Given the description of an element on the screen output the (x, y) to click on. 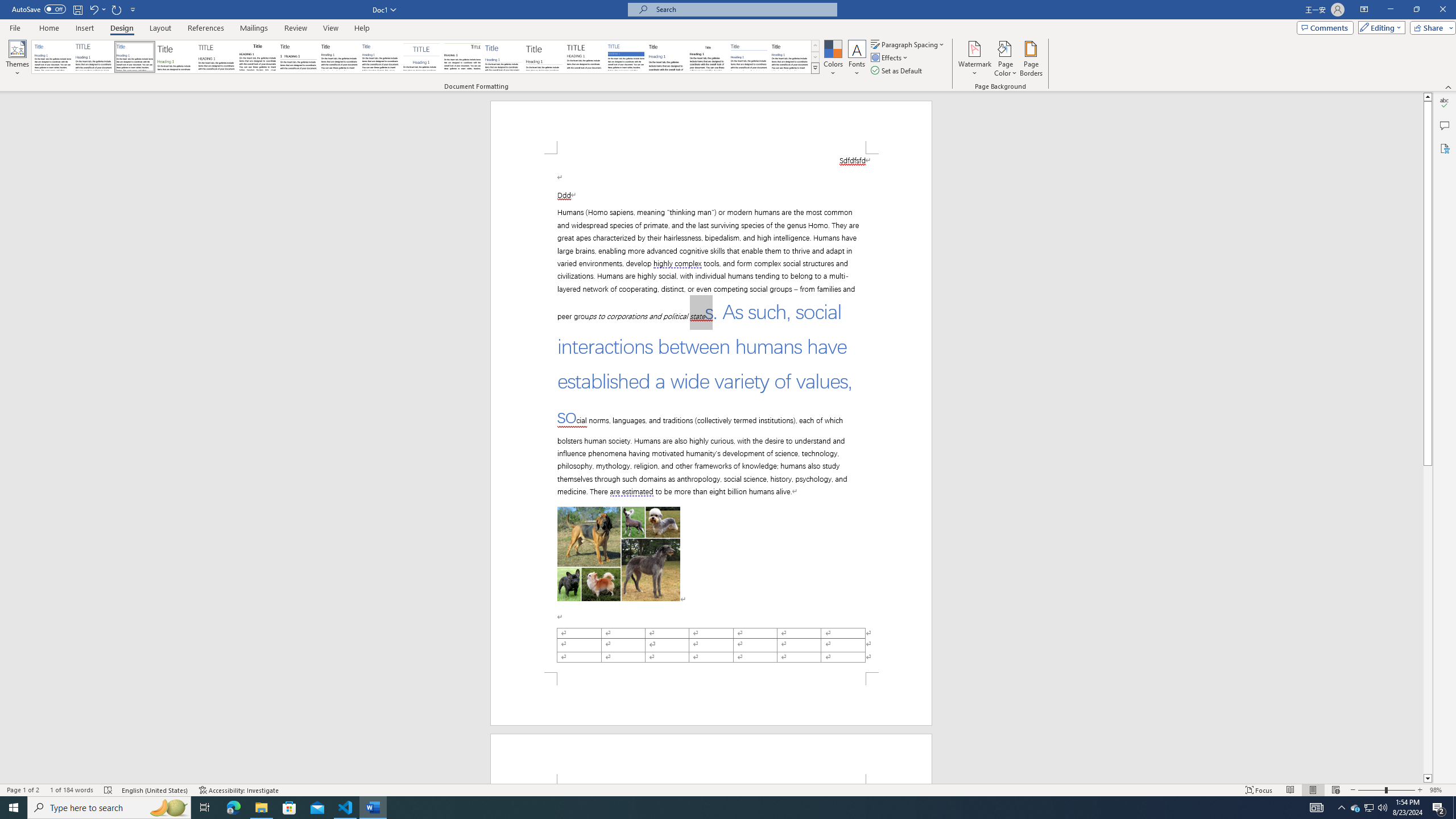
Line up (1427, 96)
Undo Apply Quick Style Set (96, 9)
Repeat Doc Close (117, 9)
Minimalist (584, 56)
Black & White (Numbered) (298, 56)
Word 2010 (749, 56)
